Given the description of an element on the screen output the (x, y) to click on. 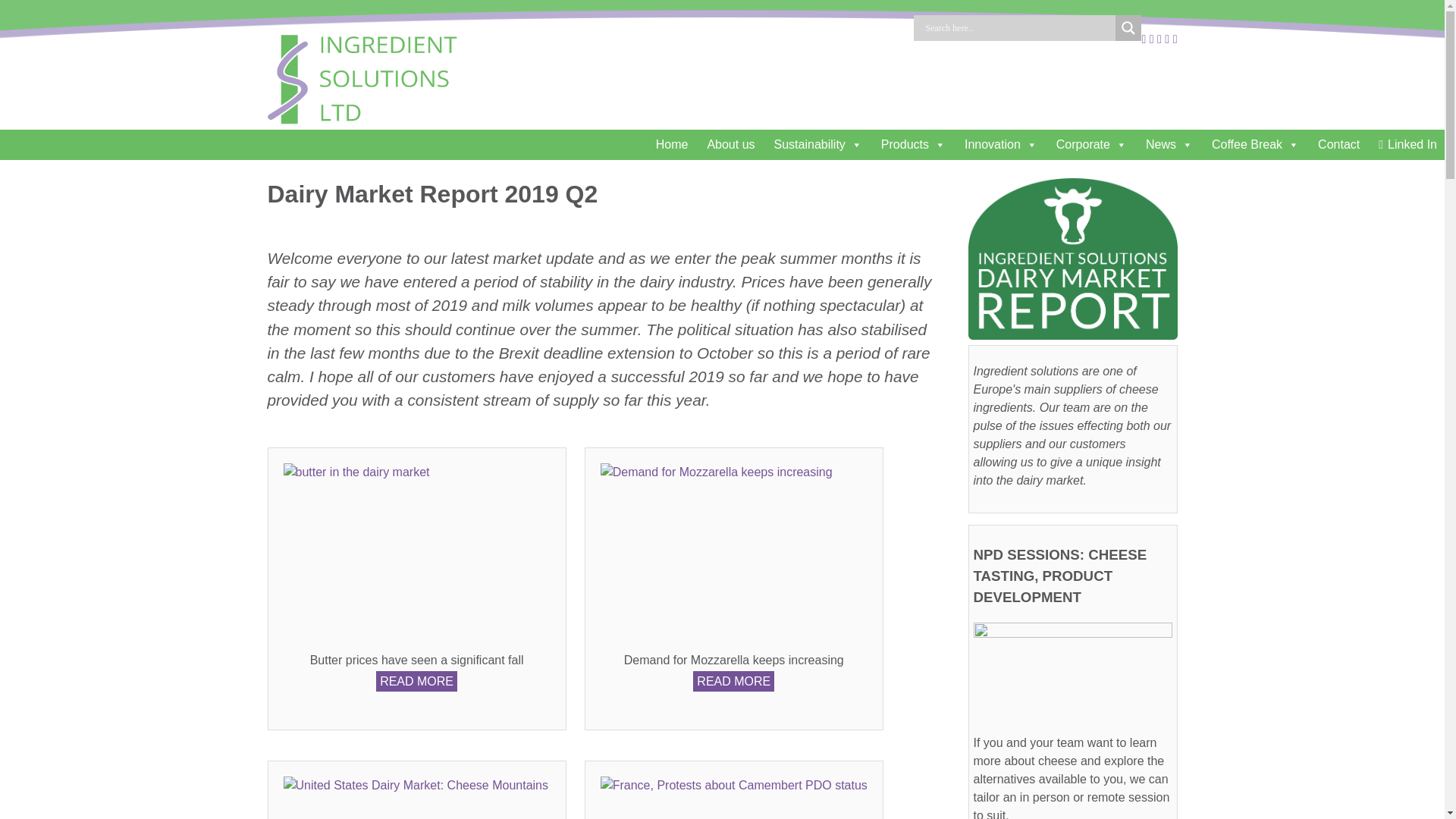
About the Irish Dairy Producer (728, 144)
About us (728, 144)
Corporate (1089, 144)
Home (670, 144)
Products (911, 144)
INGREDIENT SOLUTIONS LTD (630, 55)
Sustainability (815, 144)
Innovative Dairy Products (999, 144)
The Cheese Factory (1336, 144)
Innovation (999, 144)
